Given the description of an element on the screen output the (x, y) to click on. 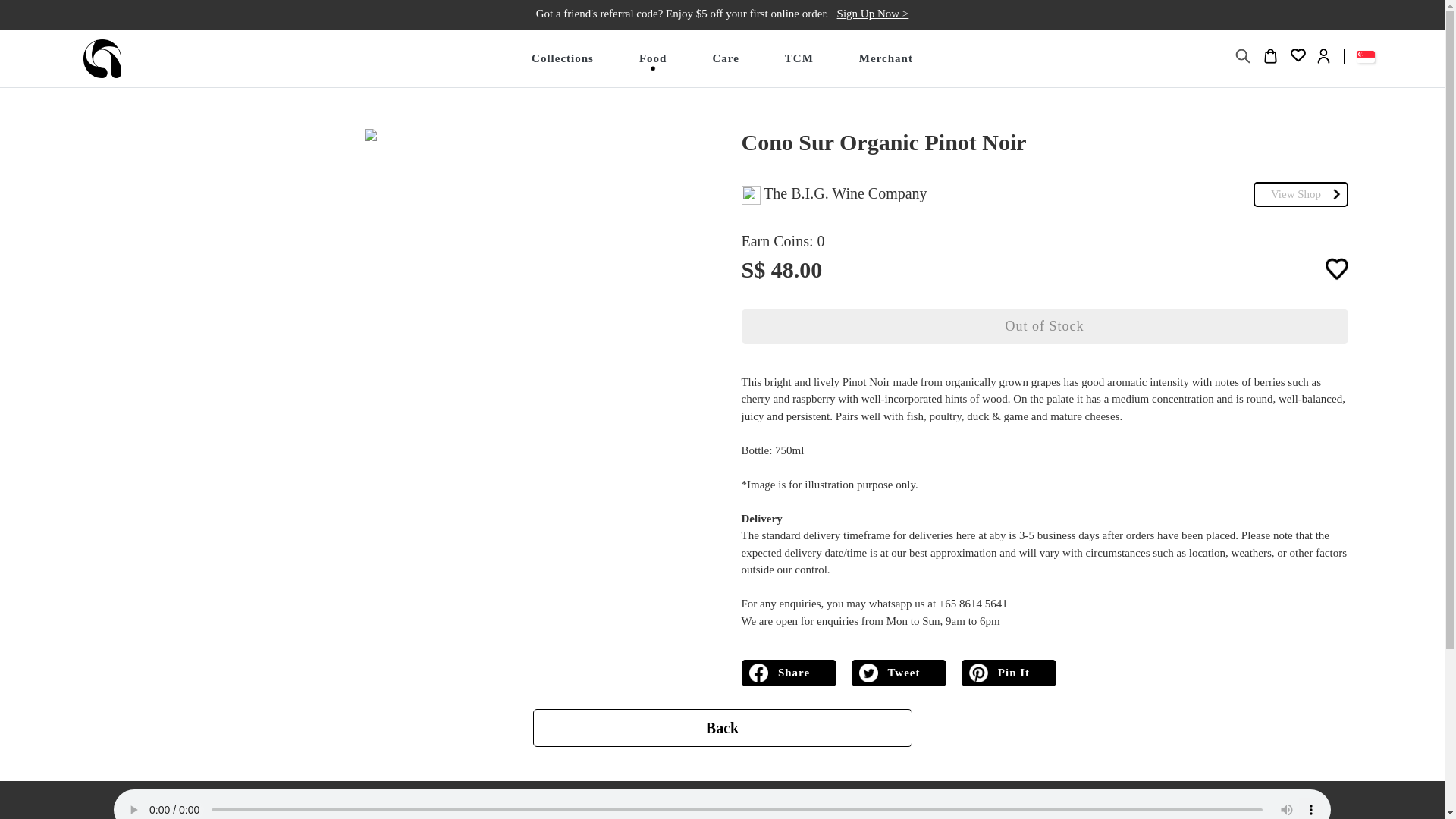
TCM (799, 58)
WishList (1298, 55)
Merchant (885, 58)
Search (1243, 55)
Care (724, 58)
Collections (562, 58)
Account (1324, 55)
Food (652, 58)
